Given the description of an element on the screen output the (x, y) to click on. 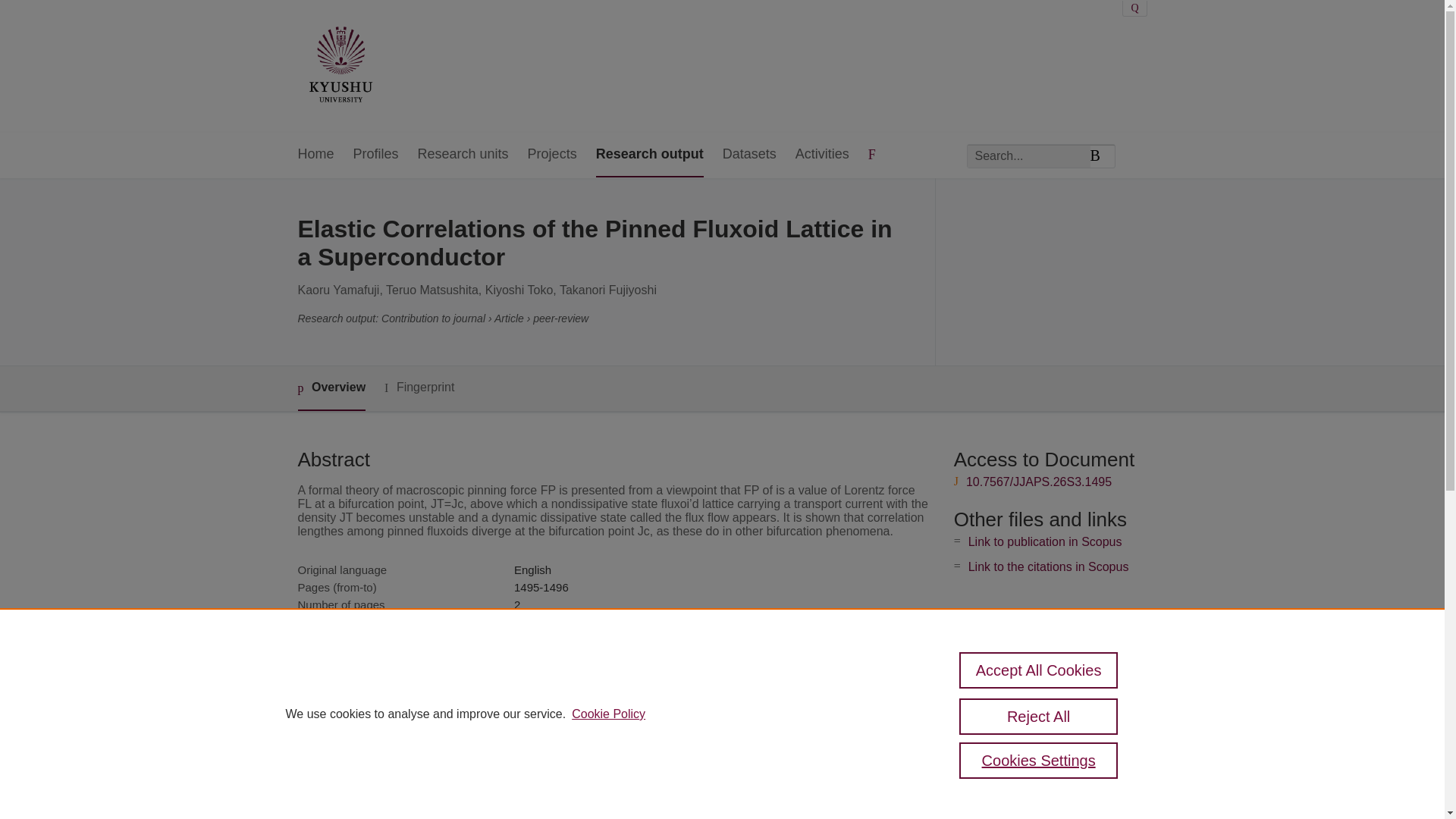
Japanese journal of applied physics (603, 621)
Activities (821, 154)
Research output (649, 154)
Fingerprint (419, 387)
Profiles (375, 154)
Link to publication in Scopus (1045, 541)
Link to the citations in Scopus (1048, 566)
Projects (551, 154)
Research units (462, 154)
